Given the description of an element on the screen output the (x, y) to click on. 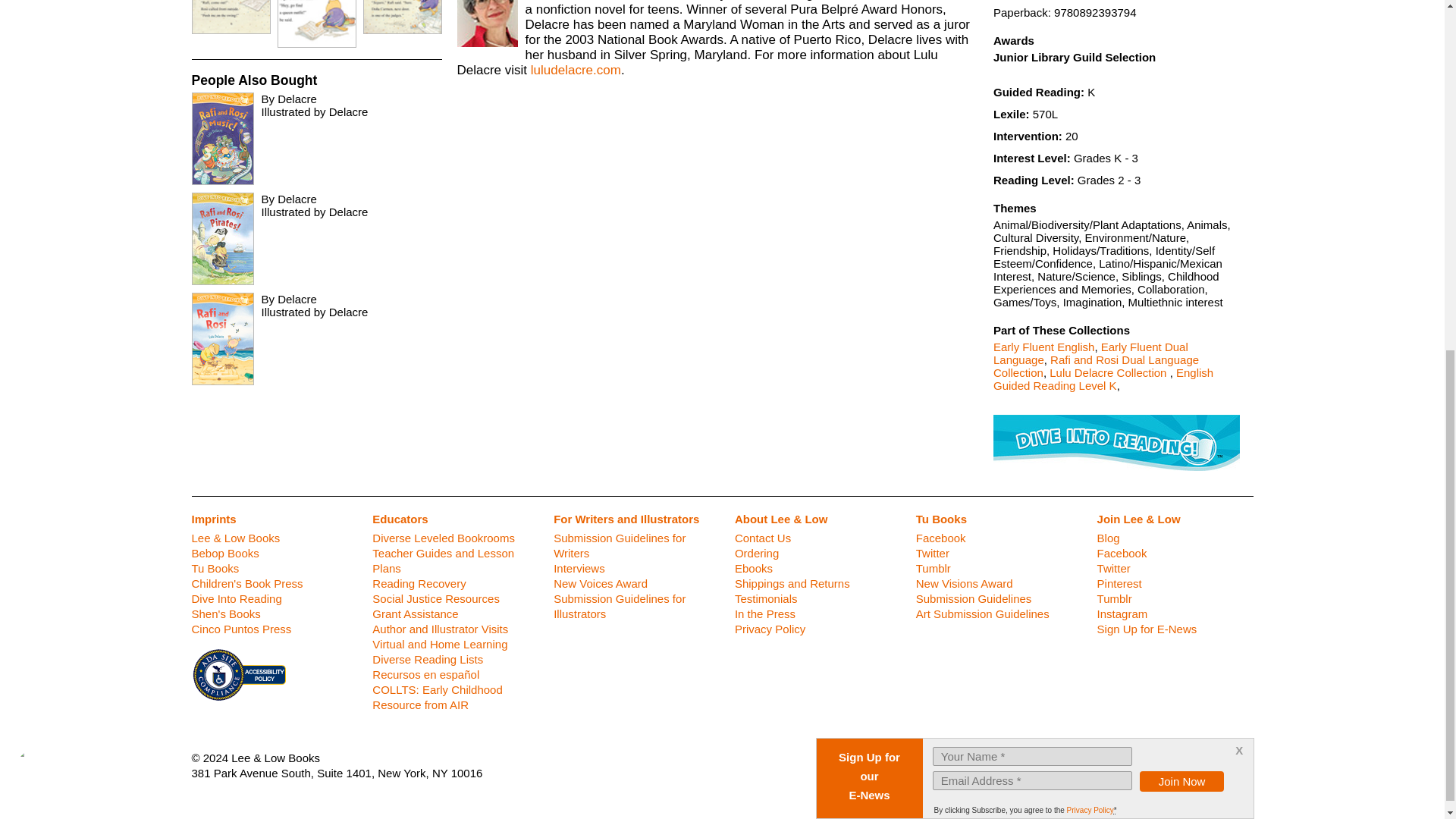
Accessibility Menu (47, 163)
Accessibility Menu (43, 159)
Join Now (1182, 164)
